Given the description of an element on the screen output the (x, y) to click on. 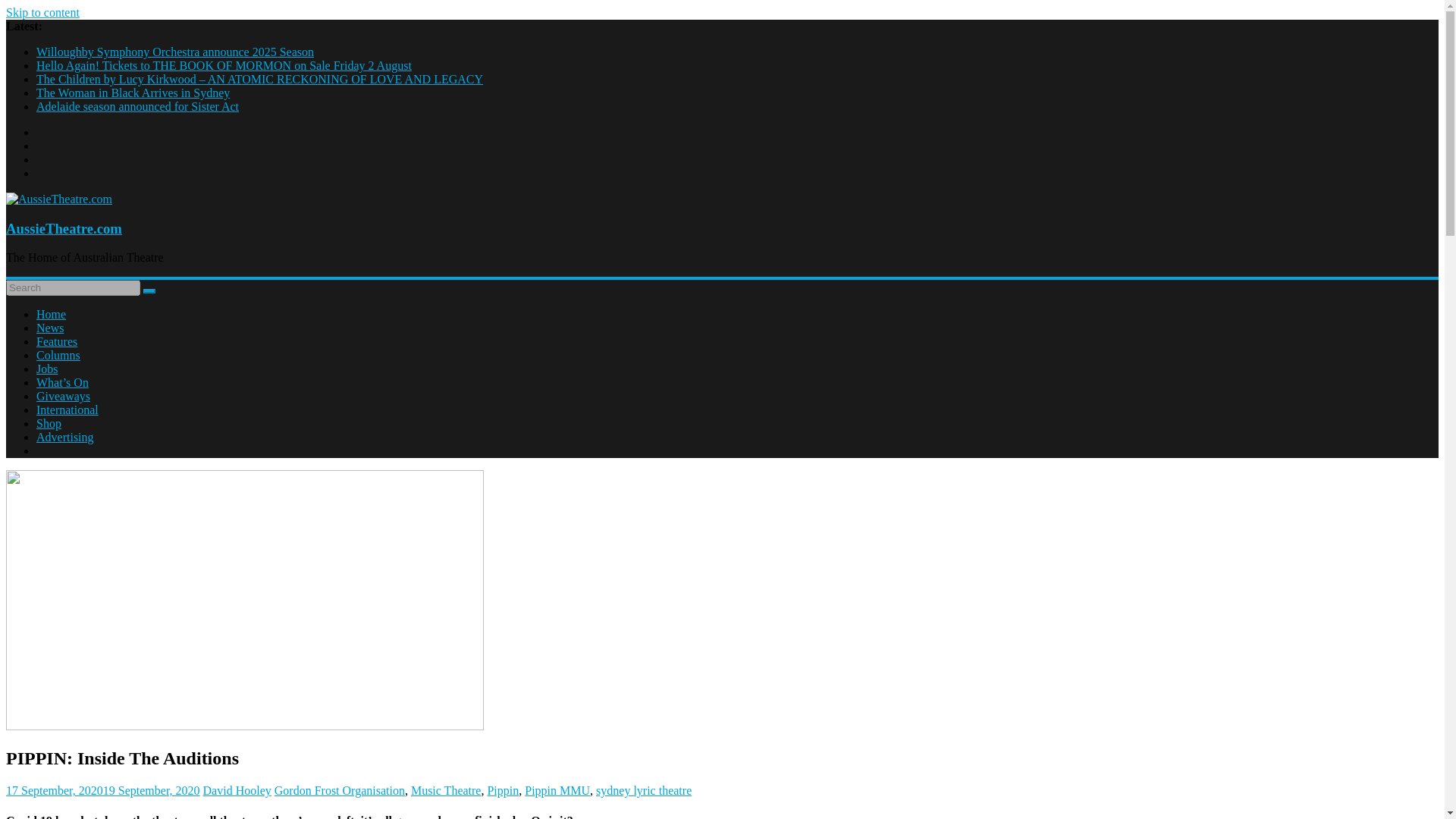
Home (50, 314)
sydney lyric theatre (643, 789)
Willoughby Symphony Orchestra announce 2025 Season (175, 51)
AussieTheatre.com (63, 228)
Music Theatre (445, 789)
The Woman in Black Arrives in Sydney (133, 92)
Skip to content (42, 11)
Columns (58, 354)
Jobs (47, 368)
Gordon Frost Organisation (339, 789)
Adelaide season announced for Sister Act (137, 106)
Pippin MMU (556, 789)
Willoughby Symphony Orchestra announce 2025 Season (175, 51)
The Woman in Black Arrives in Sydney (133, 92)
